Given the description of an element on the screen output the (x, y) to click on. 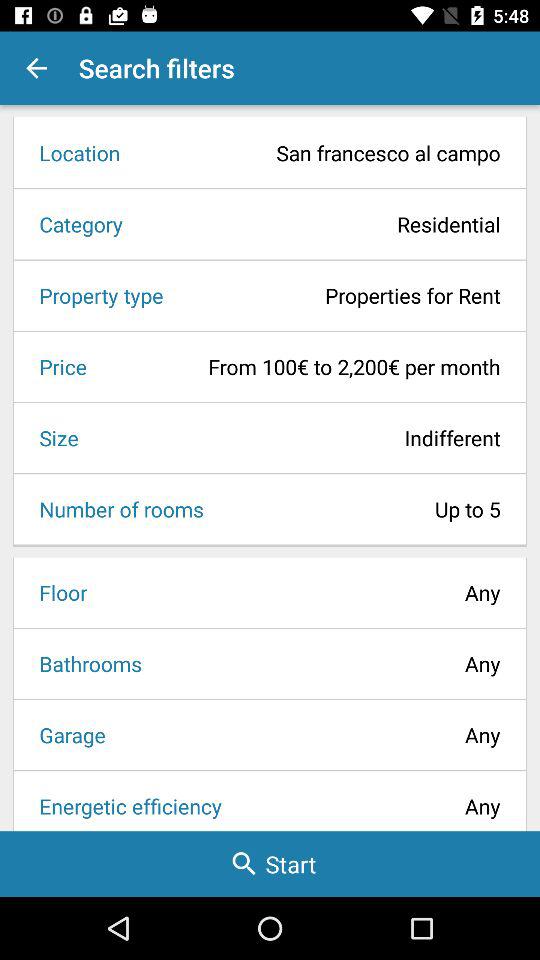
select icon above bathrooms item (56, 592)
